Given the description of an element on the screen output the (x, y) to click on. 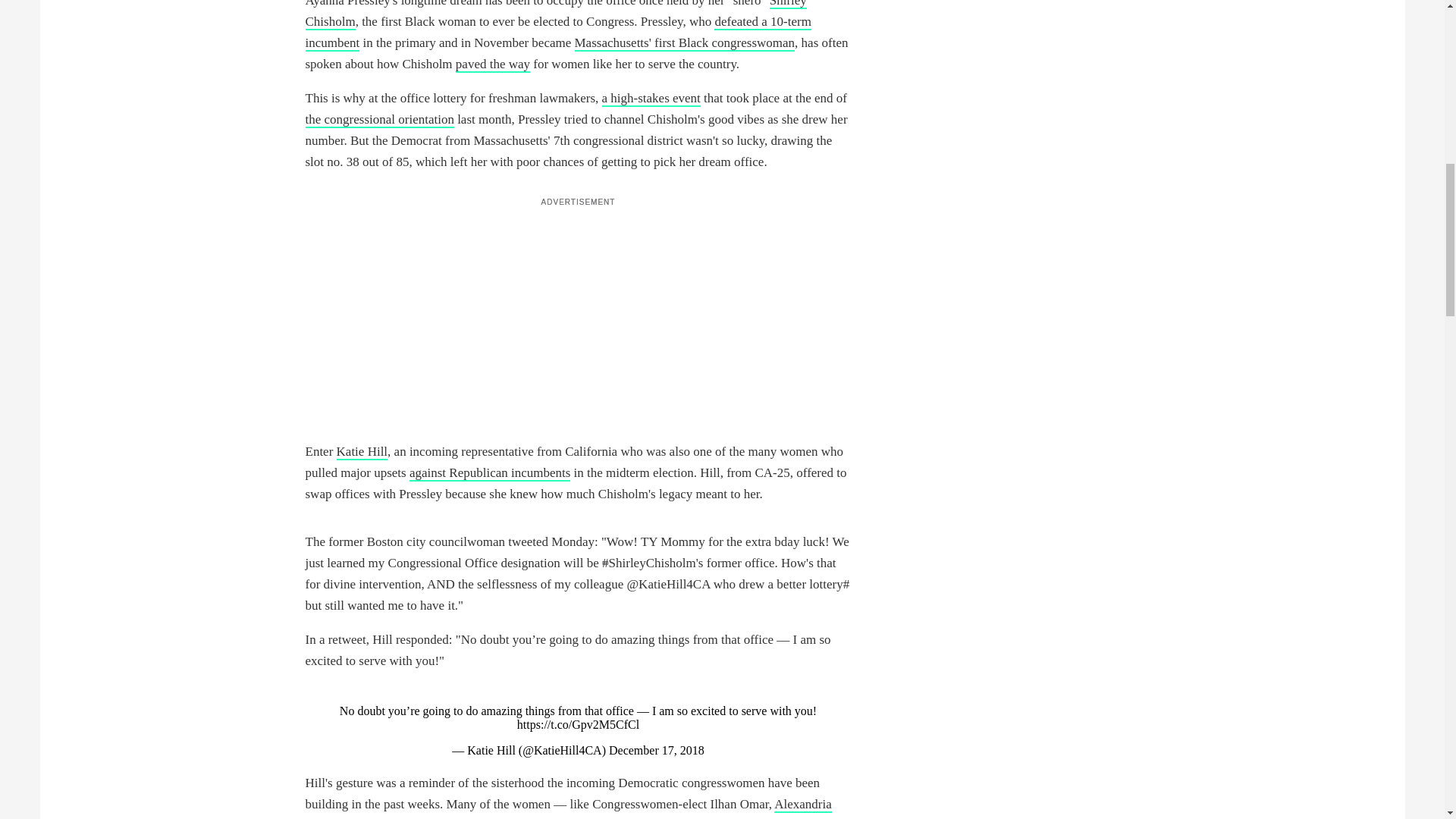
against Republican incumbents (489, 473)
the congressional orientation (378, 119)
Shirley Chisholm (555, 15)
Massachusetts' first Black congresswoman (684, 43)
Alexandria Ocasio-Cortez (567, 807)
a high-stakes event (651, 98)
defeated a 10-term incumbent (557, 32)
paved the way (492, 64)
December 17, 2018 (656, 749)
Katie Hill (362, 452)
